Given the description of an element on the screen output the (x, y) to click on. 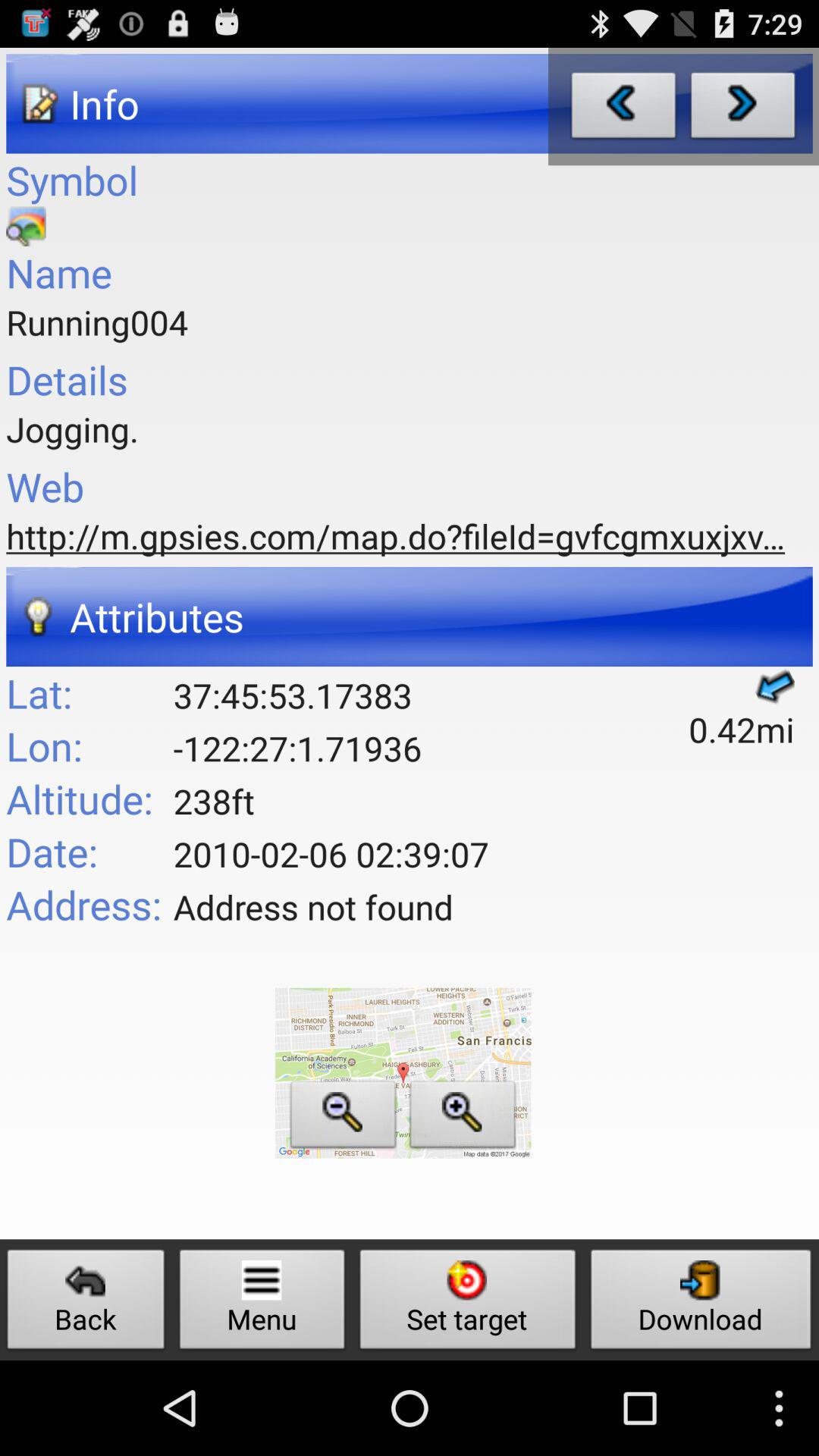
swipe to the menu icon (262, 1303)
